Given the description of an element on the screen output the (x, y) to click on. 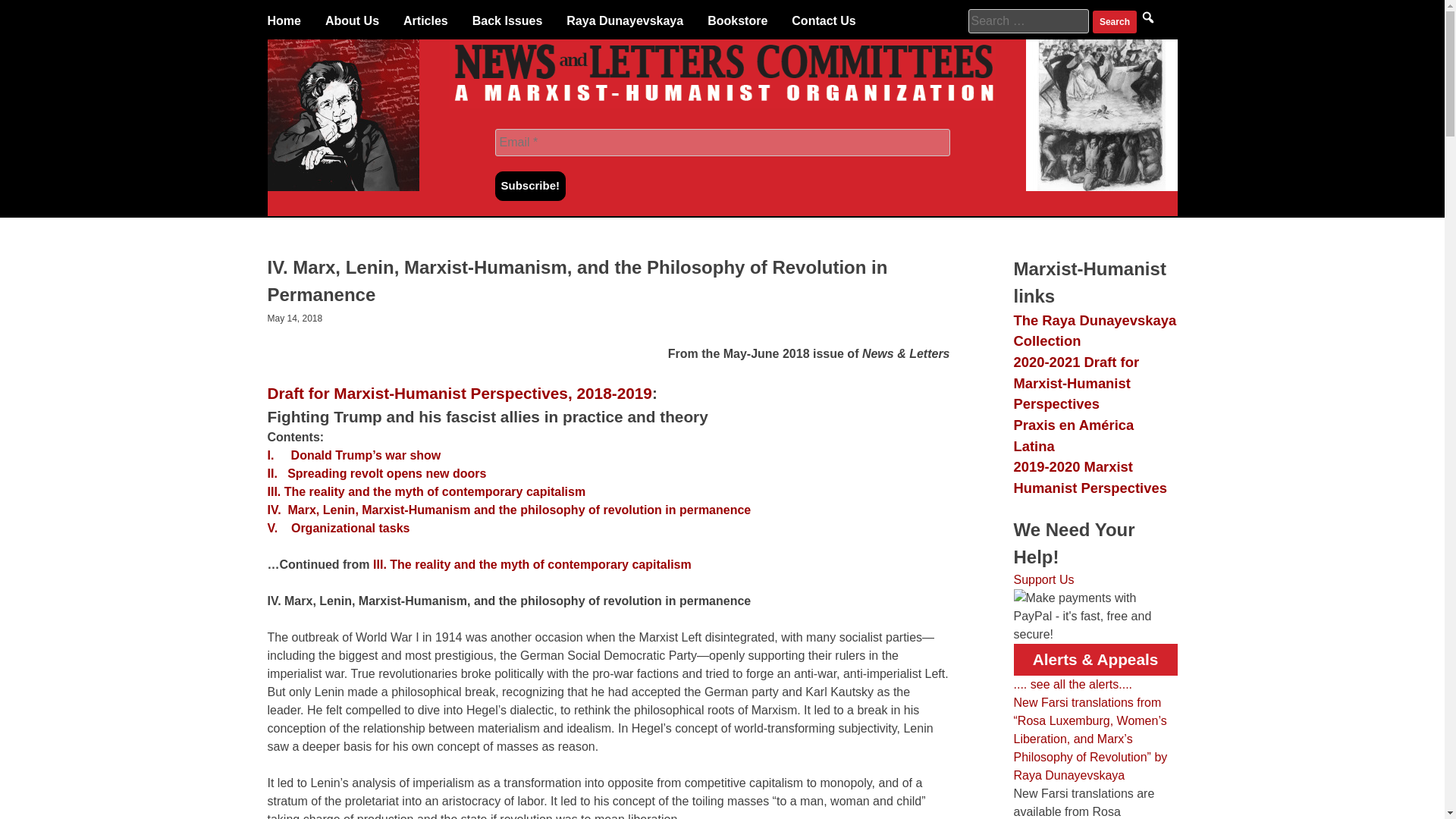
Raya Dunayevskaya (624, 21)
Search (1115, 21)
Bookstore (737, 21)
Email (722, 142)
Draft for Marxist-Humanist Perspectives, 2018-2019 (458, 393)
Home (282, 21)
Articles (425, 21)
Subscribe! (530, 185)
Subscribe! (530, 185)
About Us (351, 21)
